Given the description of an element on the screen output the (x, y) to click on. 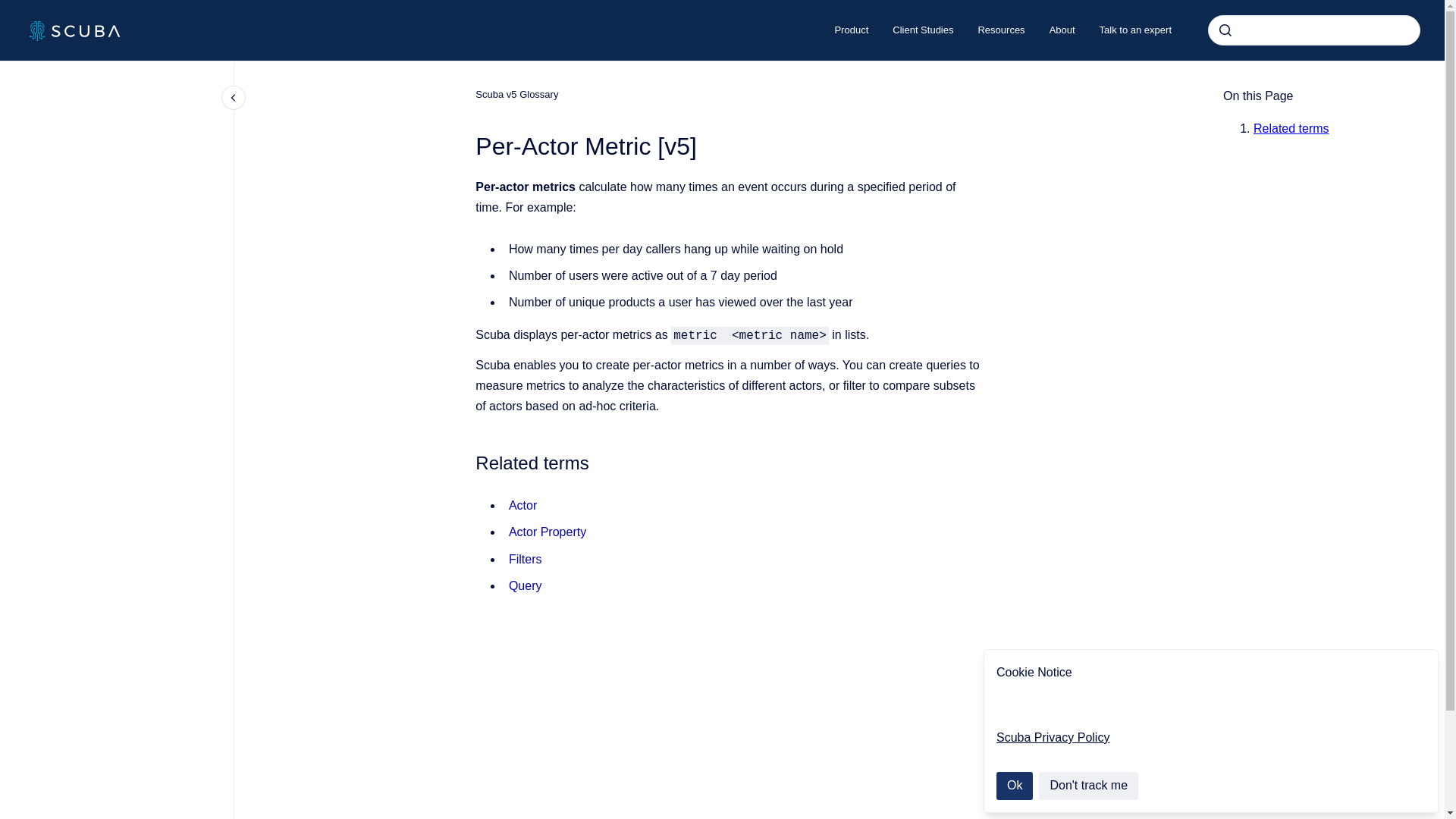
Filters (524, 558)
Don't track me (1088, 786)
Actor Property (547, 531)
Client Studies (922, 29)
Ok (1013, 786)
Product (851, 29)
Scuba v5 Glossary (516, 94)
Resources (1000, 29)
Go to homepage (74, 30)
Actor (522, 504)
About (1061, 29)
Scuba Privacy Policy (1052, 737)
Query (524, 585)
Talk to an expert (1135, 29)
